Given the description of an element on the screen output the (x, y) to click on. 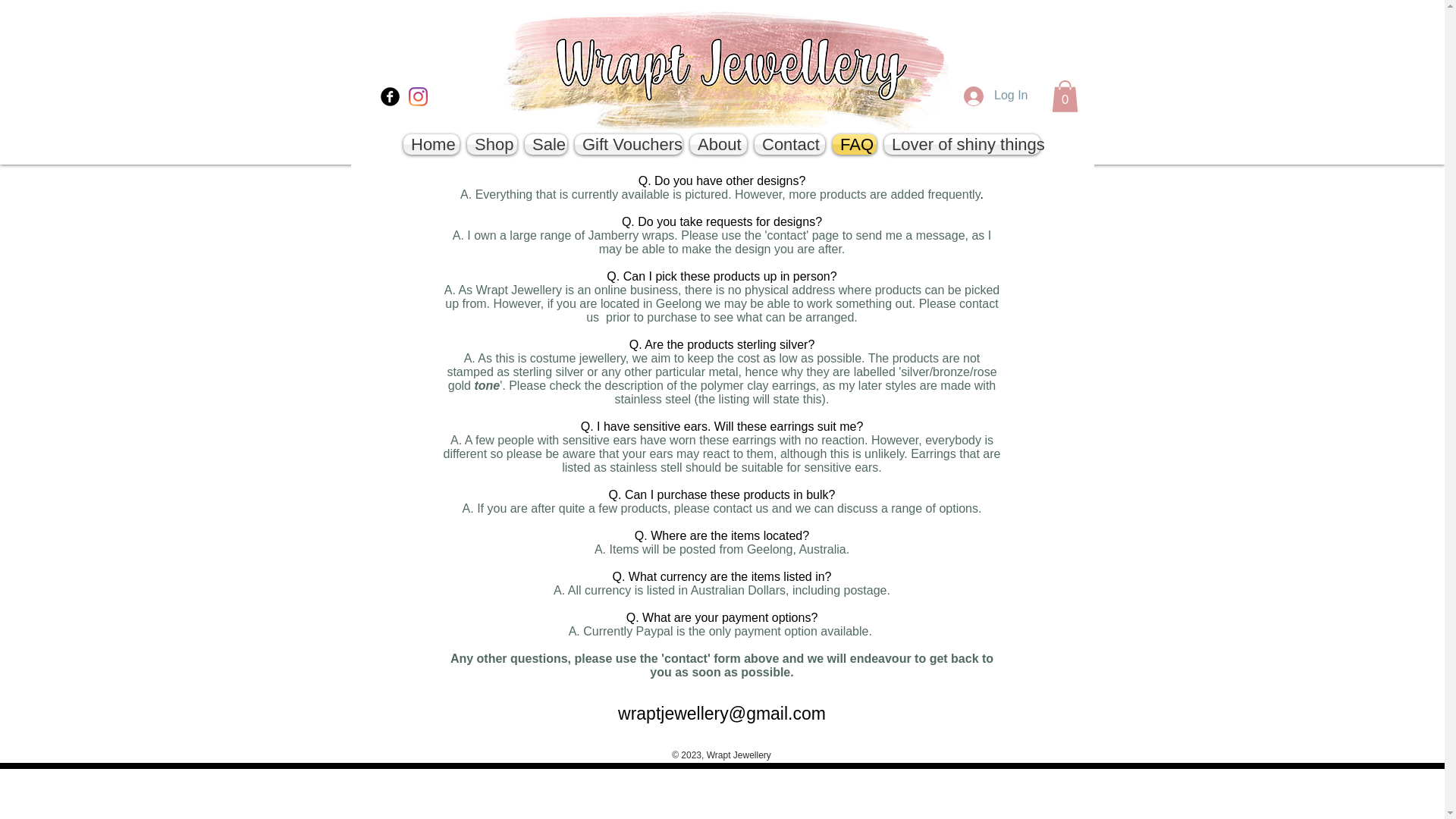
About (718, 144)
FAQ (854, 144)
Home (430, 144)
Shop (492, 144)
Sale (545, 144)
Lover of shiny things (961, 144)
Gift Vouchers (627, 144)
Contact (789, 144)
Log In (995, 95)
